Given the description of an element on the screen output the (x, y) to click on. 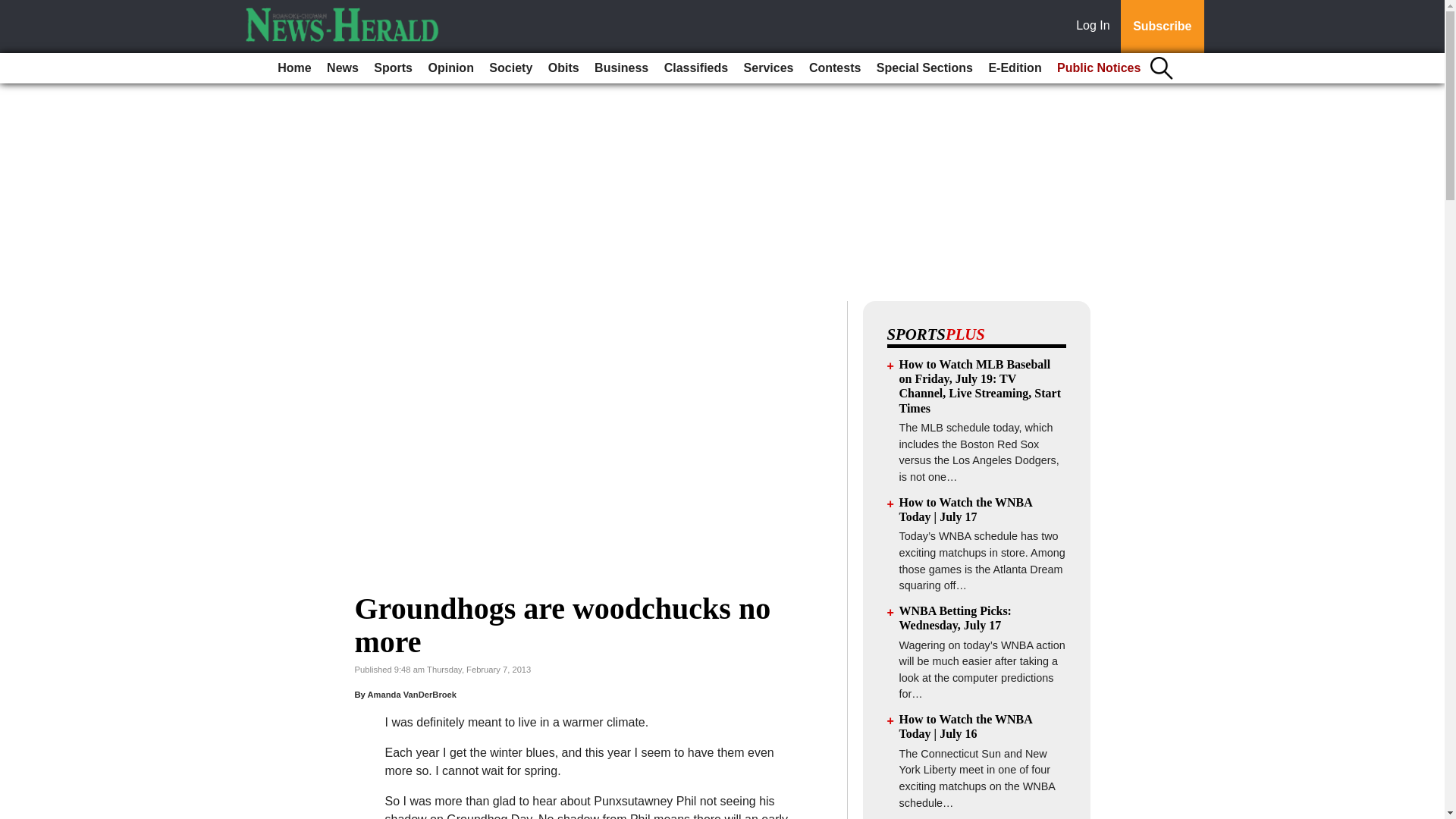
Sports (393, 68)
Home (293, 68)
E-Edition (1013, 68)
Contests (834, 68)
Special Sections (924, 68)
Services (768, 68)
Classifieds (695, 68)
Go (13, 9)
Obits (563, 68)
Subscribe (1162, 26)
Public Notices (1099, 68)
Business (620, 68)
Opinion (450, 68)
Amanda VanDerBroek (411, 694)
